Given the description of an element on the screen output the (x, y) to click on. 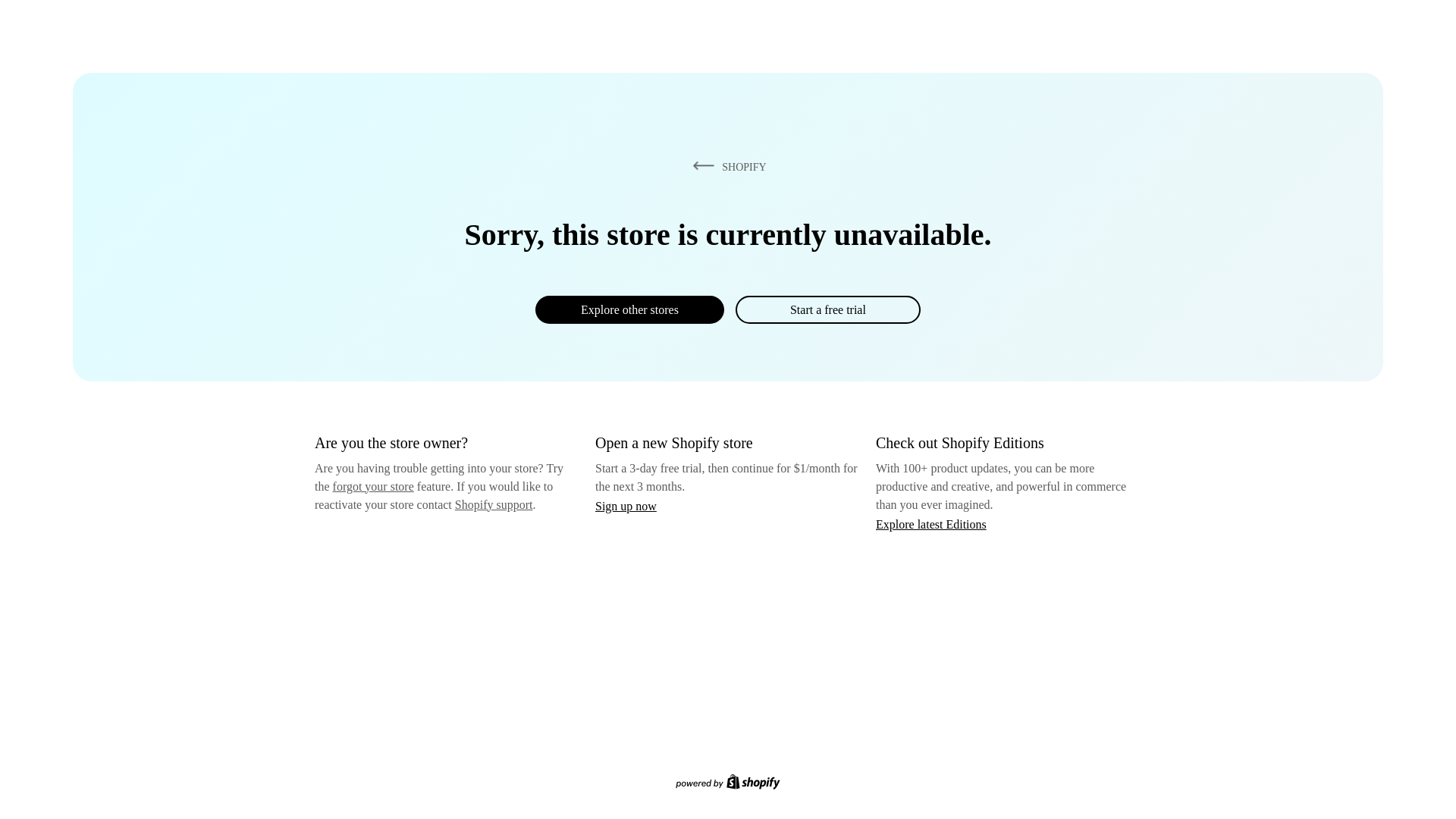
forgot your store (373, 486)
Explore latest Editions (931, 523)
Sign up now (625, 505)
Start a free trial (827, 309)
SHOPIFY (726, 166)
Explore other stores (629, 309)
Shopify support (493, 504)
